Given the description of an element on the screen output the (x, y) to click on. 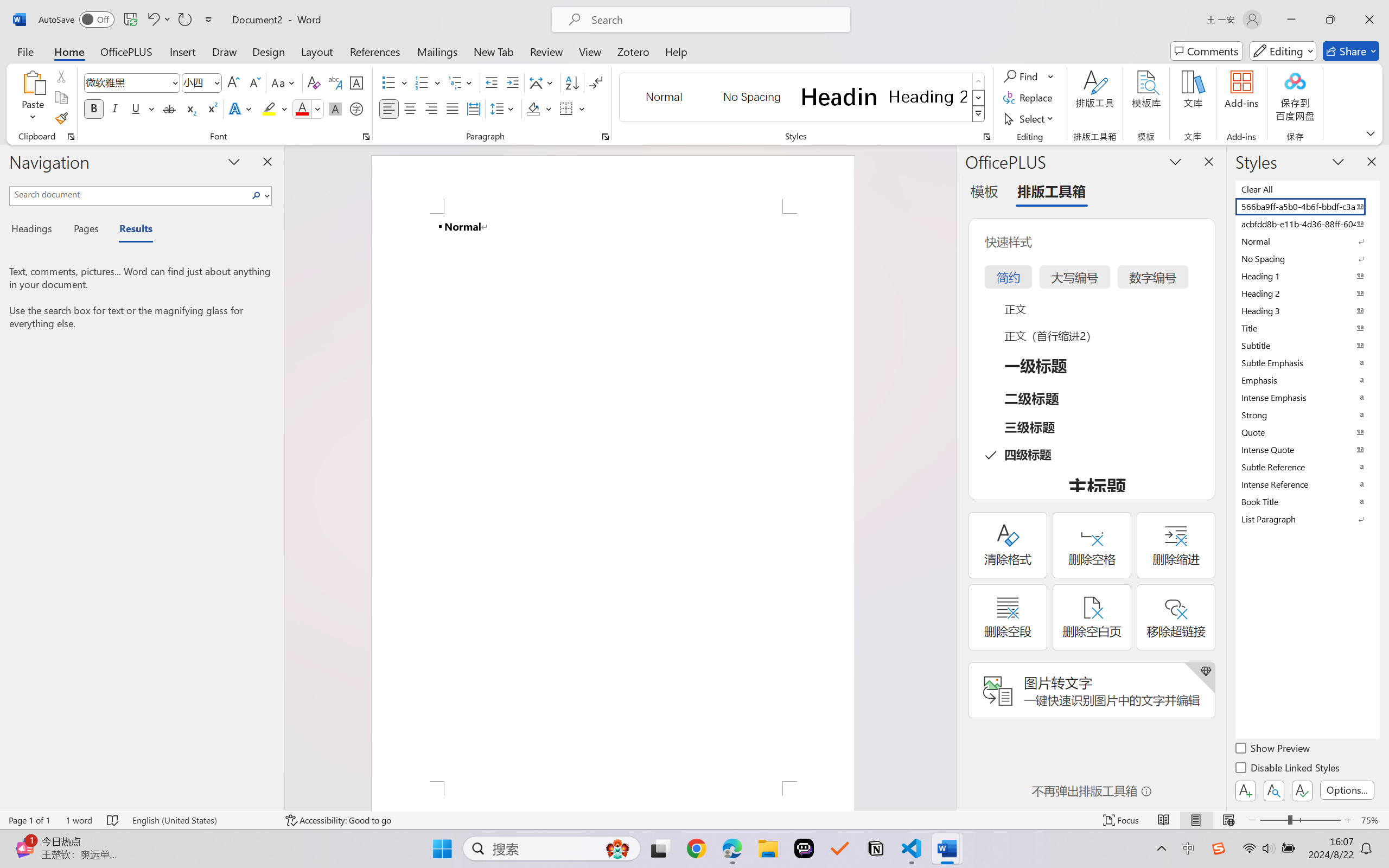
Underline (135, 108)
Search document (128, 193)
Insert (182, 51)
Superscript (210, 108)
Phonetic Guide... (334, 82)
Accessibility Checker Accessibility: Good to go (338, 819)
Shading (539, 108)
Focus  (1121, 819)
Clear All (1306, 188)
Text Highlight Color Yellow (269, 108)
AutomationID: QuickStylesGallery (802, 97)
Spelling and Grammar Check No Errors (113, 819)
